Given the description of an element on the screen output the (x, y) to click on. 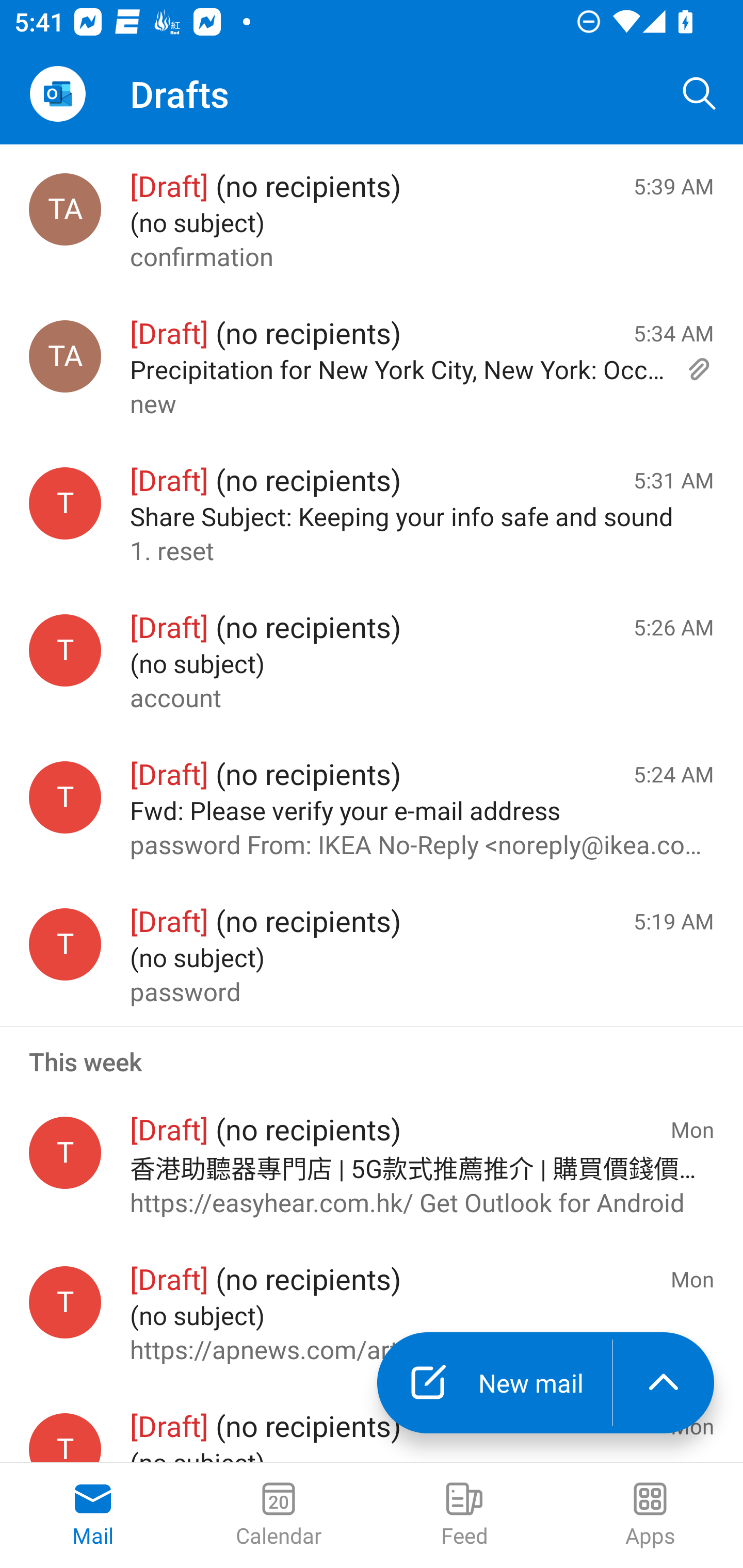
Search, ,  (699, 93)
Open Navigation Drawer (57, 94)
Test Appium, testappium002@outlook.com (64, 210)
Test Appium, testappium002@outlook.com (64, 355)
testappium002@outlook.com (64, 503)
testappium002@outlook.com (64, 650)
testappium002@outlook.com (64, 798)
testappium002@outlook.com (64, 943)
testappium002@outlook.com (64, 1152)
testappium002@outlook.com (64, 1302)
New mail (494, 1382)
launch the extended action menu (663, 1382)
testappium002@outlook.com (64, 1437)
Calendar (278, 1515)
Feed (464, 1515)
Apps (650, 1515)
